Given the description of an element on the screen output the (x, y) to click on. 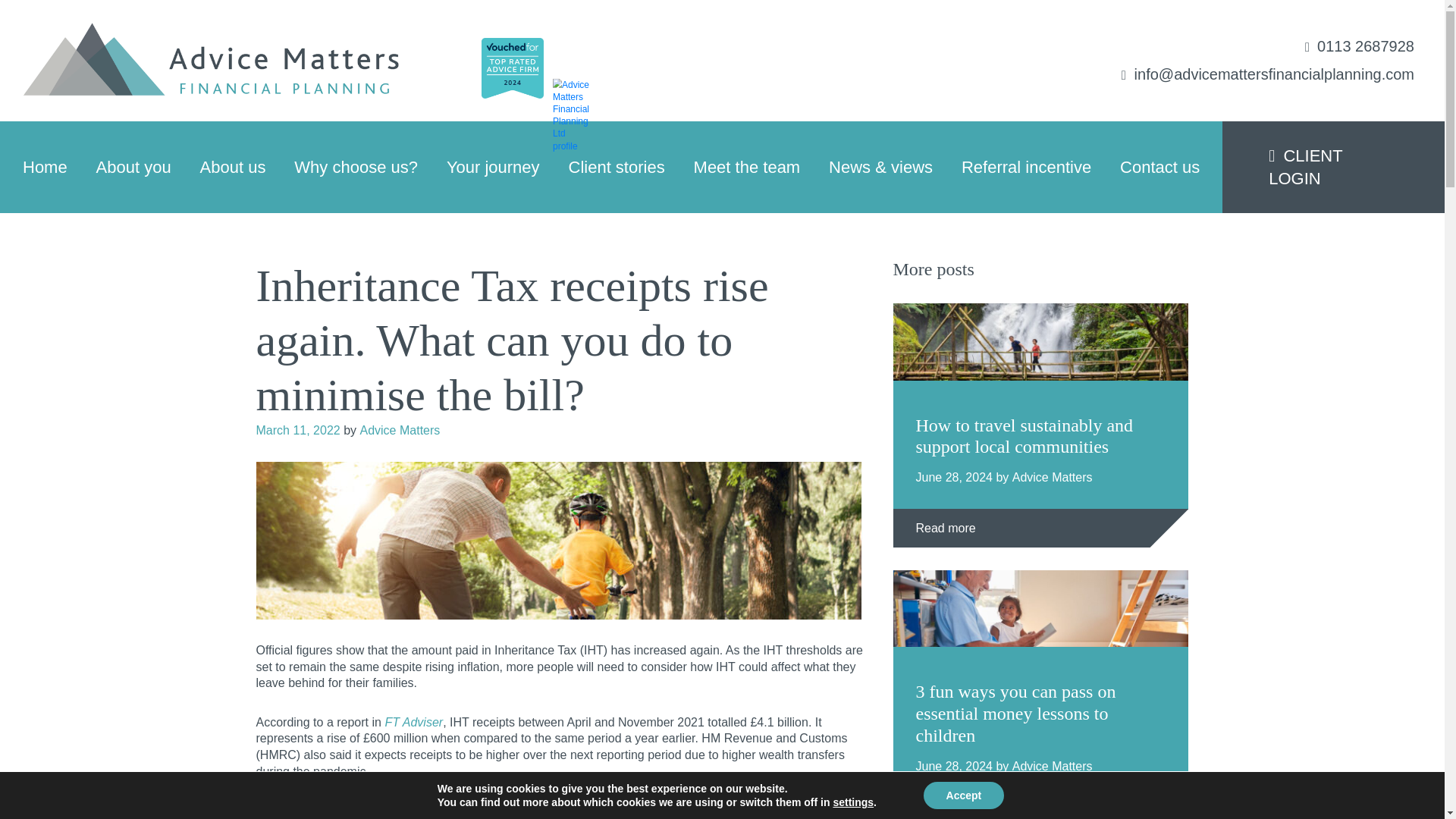
Advice Matters Financial Planning Ltd profile (577, 110)
